Given the description of an element on the screen output the (x, y) to click on. 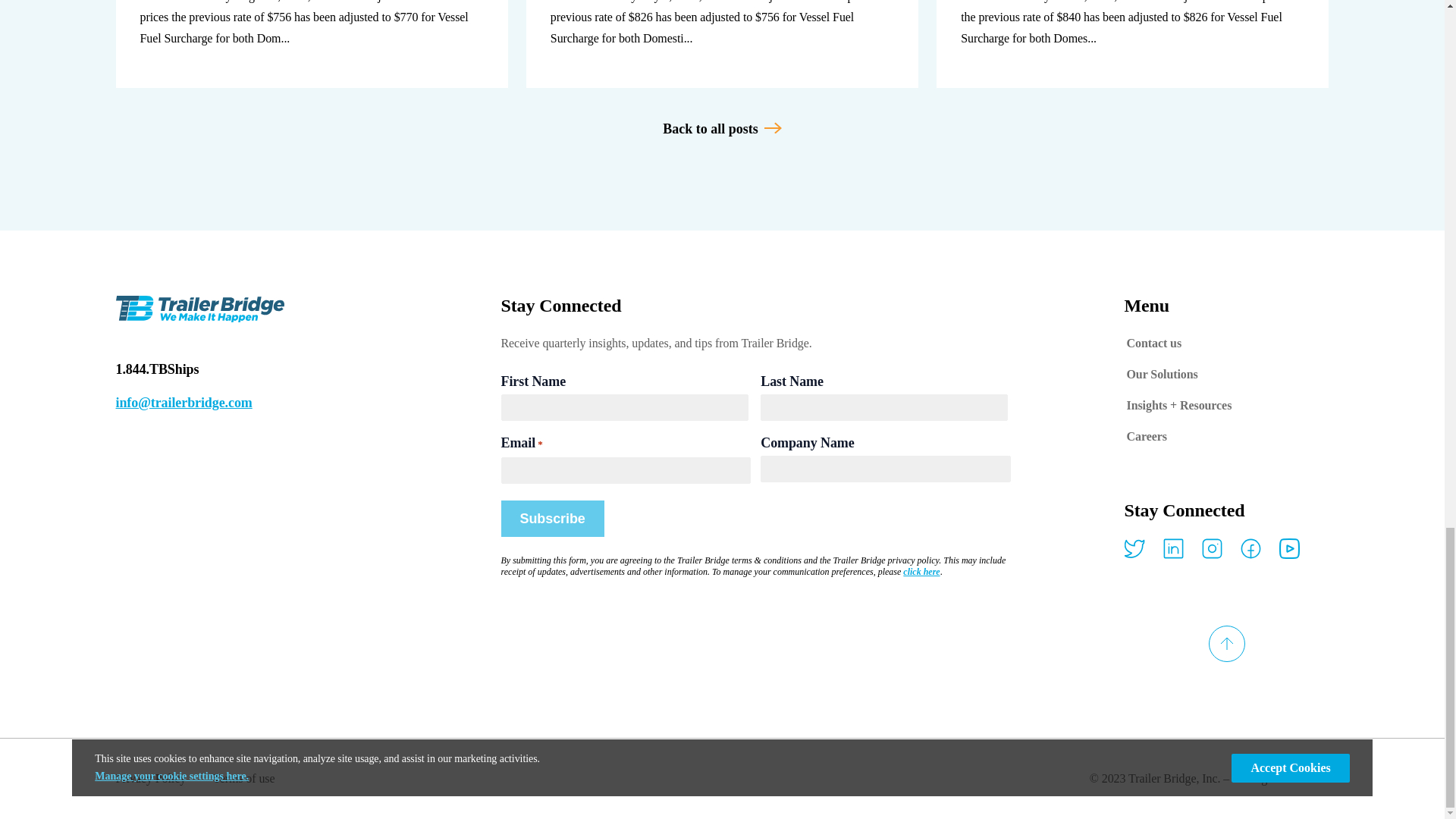
Subscribe (552, 518)
